Given the description of an element on the screen output the (x, y) to click on. 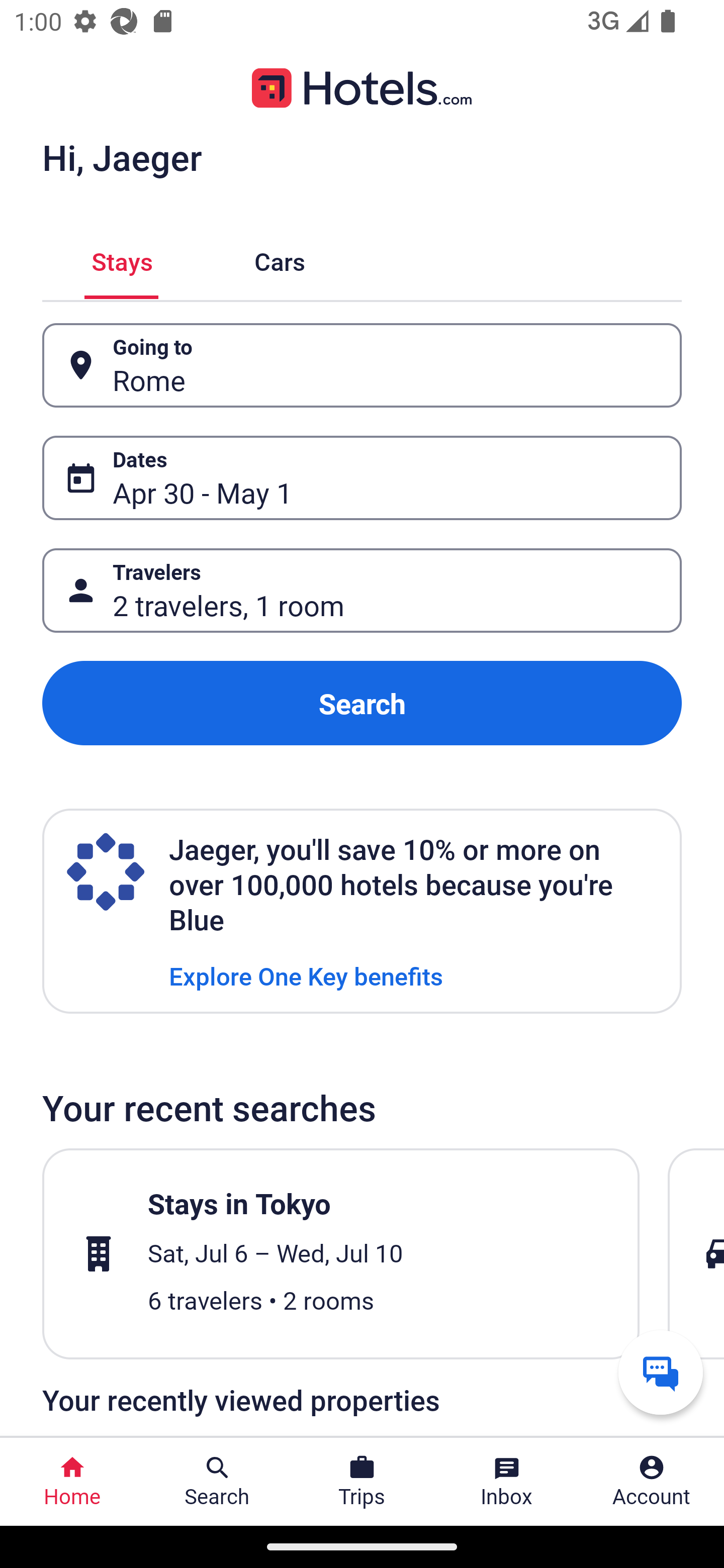
Hi, Jaeger (121, 156)
Cars (279, 259)
Going to Button Rome (361, 365)
Dates Button Apr 30 - May 1 (361, 477)
Travelers Button 2 travelers, 1 room (361, 590)
Search (361, 702)
Get help from a virtual agent (660, 1371)
Search Search Button (216, 1481)
Trips Trips Button (361, 1481)
Inbox Inbox Button (506, 1481)
Account Profile. Button (651, 1481)
